Given the description of an element on the screen output the (x, y) to click on. 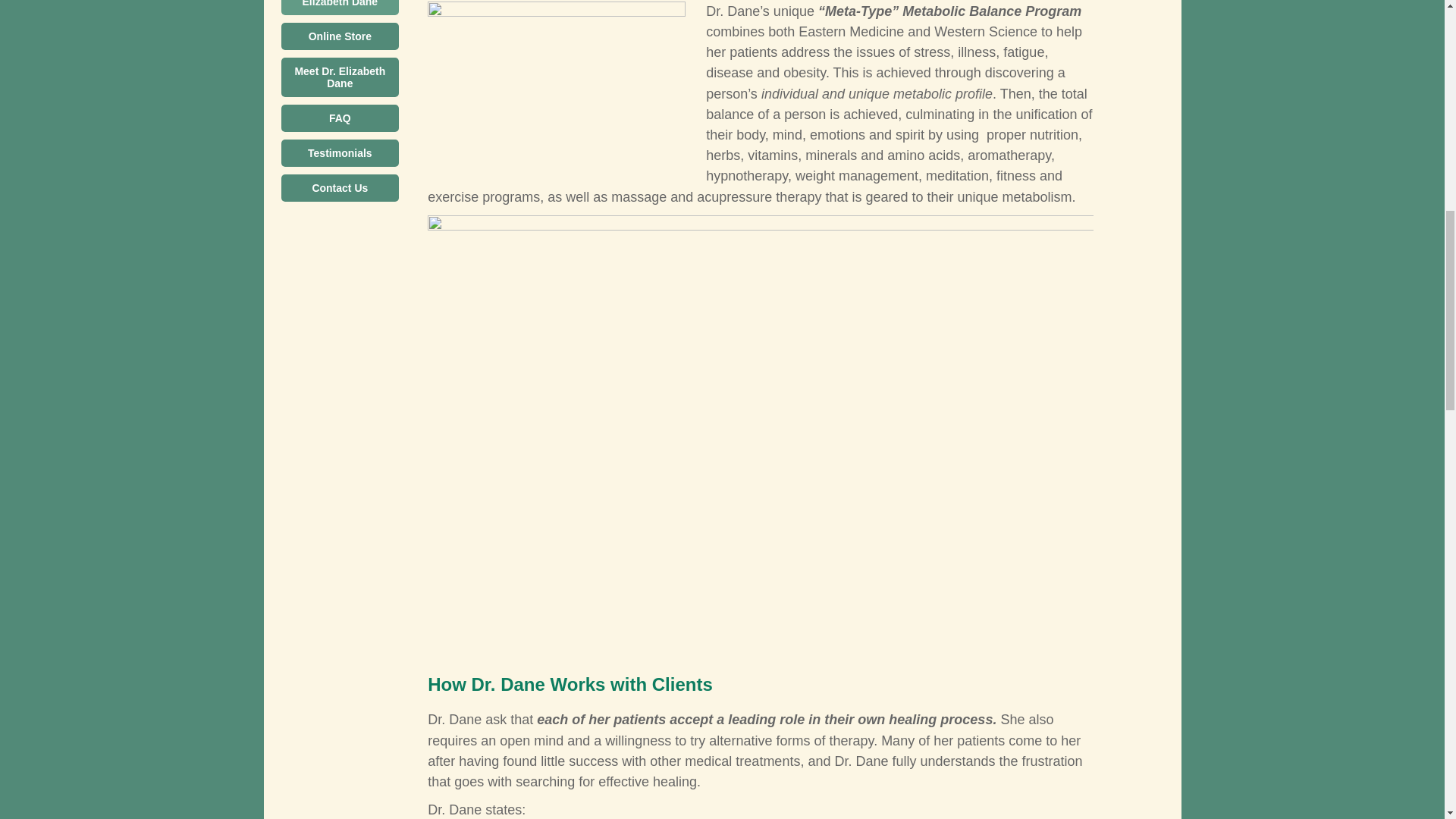
Consult with Dr. Elizabeth Dane (339, 7)
Online Store (339, 35)
Testimonials (339, 153)
FAQ (339, 117)
Meet Dr. Elizabeth Dane (339, 77)
Contact Us (339, 187)
